Given the description of an element on the screen output the (x, y) to click on. 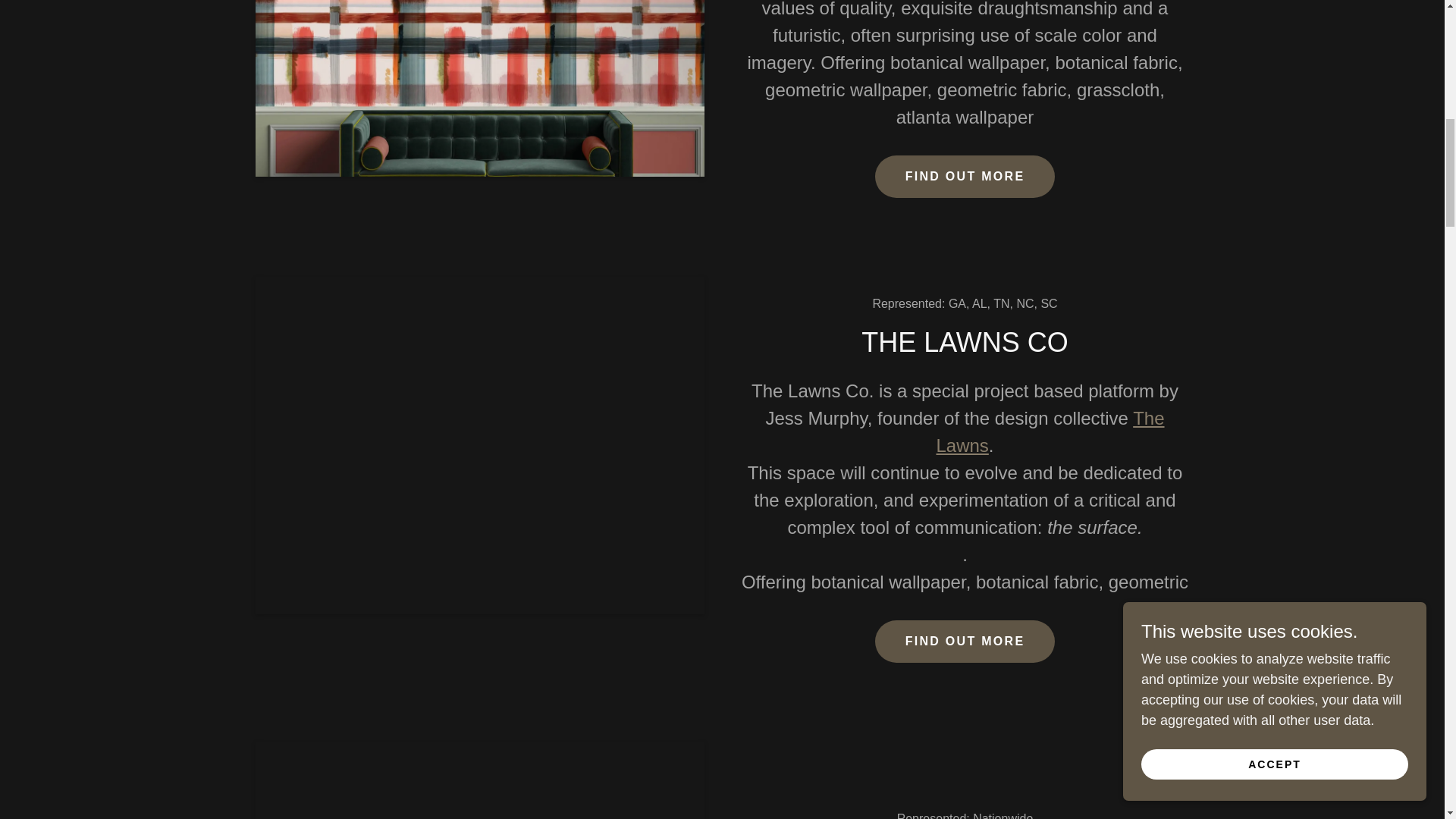
FIND OUT MORE (965, 176)
The Lawns (1049, 431)
FIND OUT MORE (965, 640)
